Given the description of an element on the screen output the (x, y) to click on. 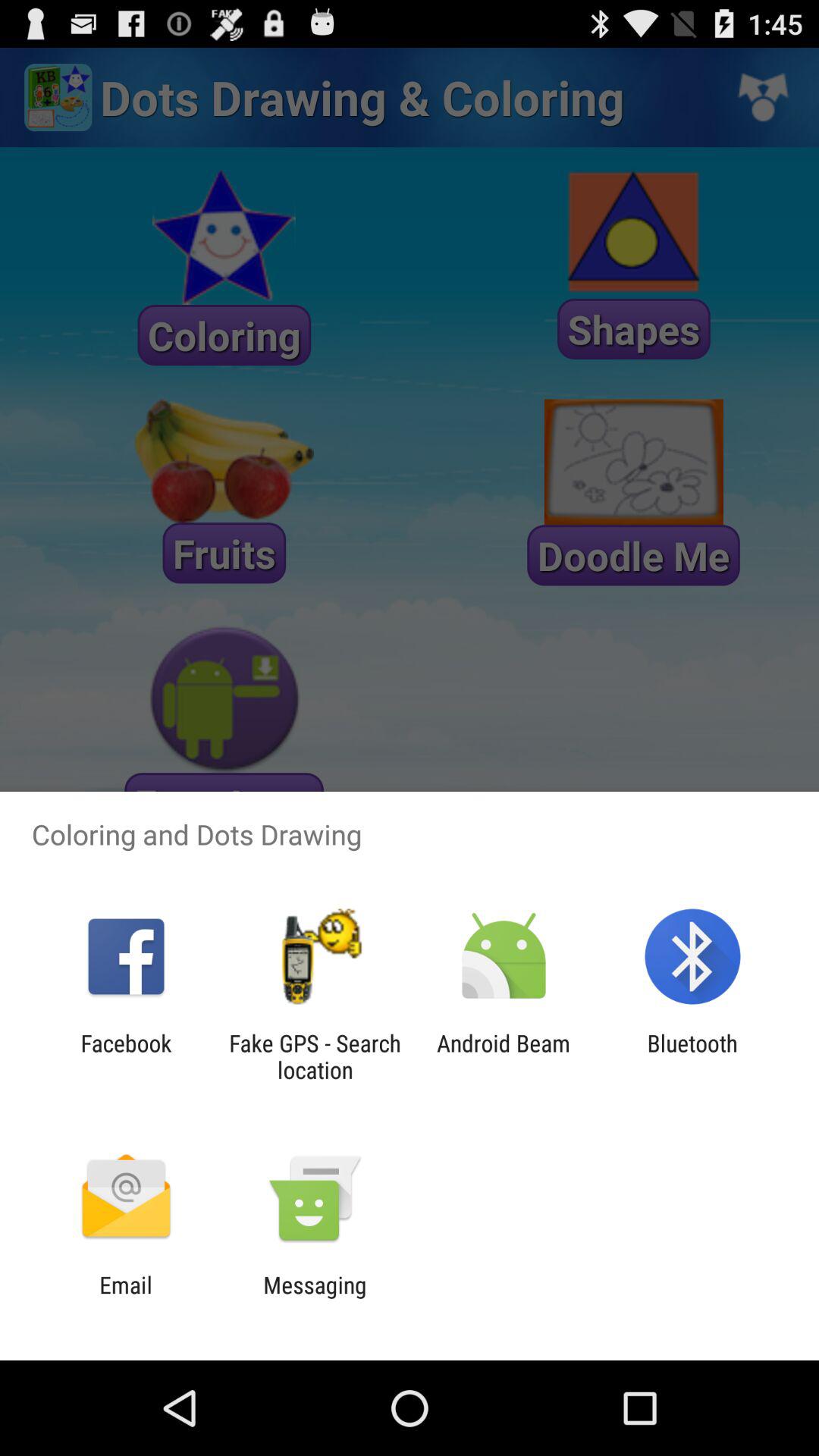
jump to bluetooth item (692, 1056)
